Given the description of an element on the screen output the (x, y) to click on. 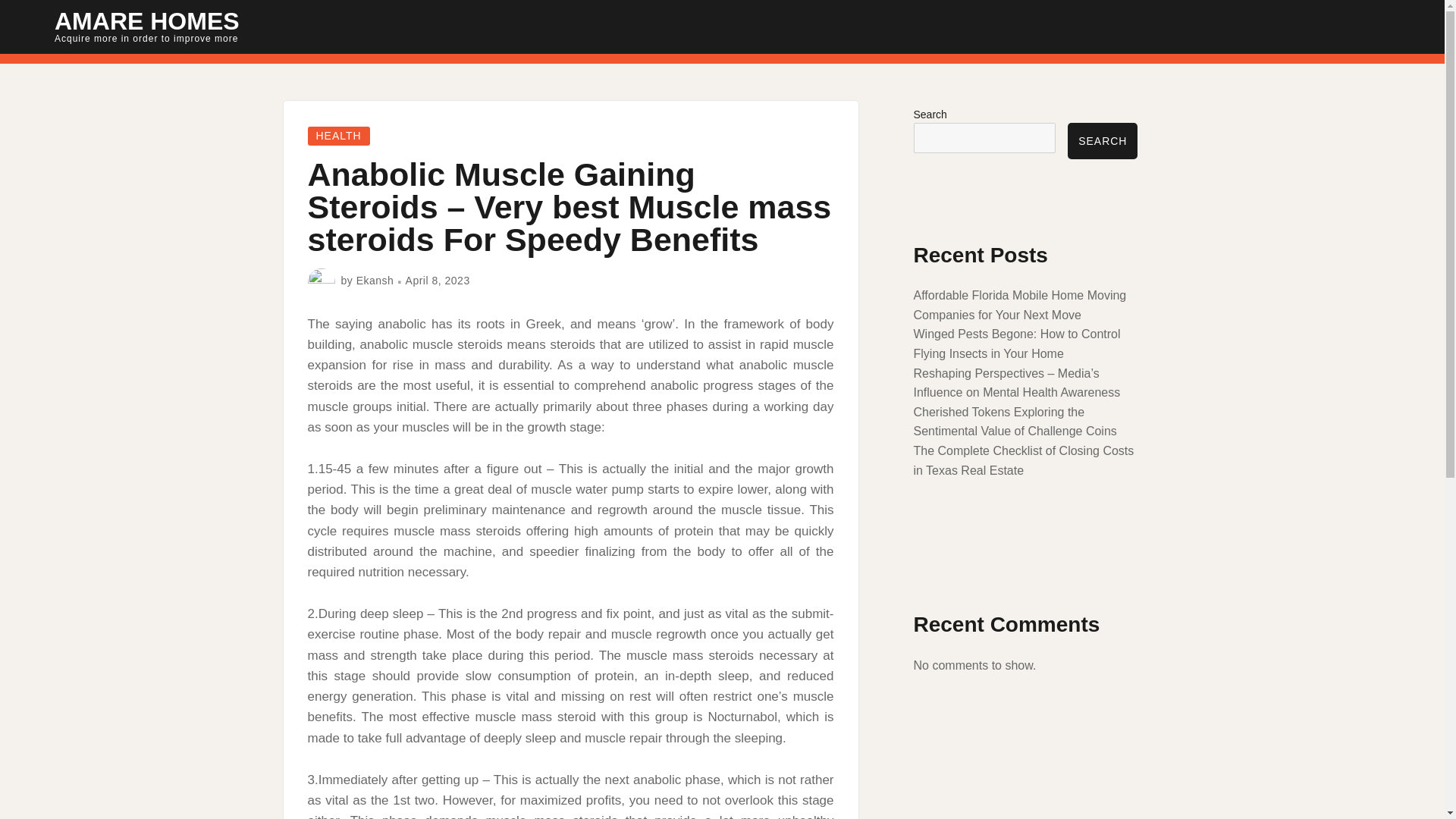
HEALTH (338, 135)
SEARCH (1102, 140)
April 8, 2023 (438, 280)
The Complete Checklist of Closing Costs in Texas Real Estate (1023, 460)
Ekansh (375, 280)
AMARE HOMES (147, 21)
